Given the description of an element on the screen output the (x, y) to click on. 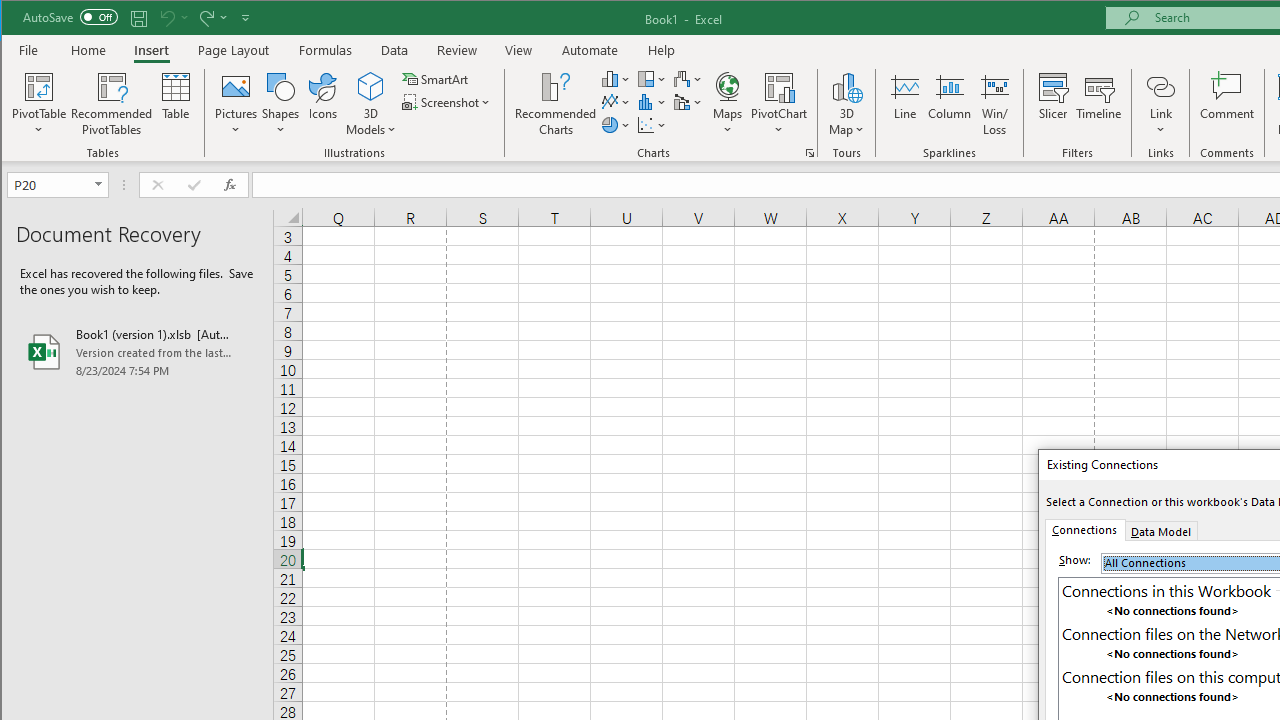
Maps (727, 104)
SmartArt... (436, 78)
Data Model (1160, 529)
Insert Hierarchy Chart (652, 78)
Link (1160, 86)
